Given the description of an element on the screen output the (x, y) to click on. 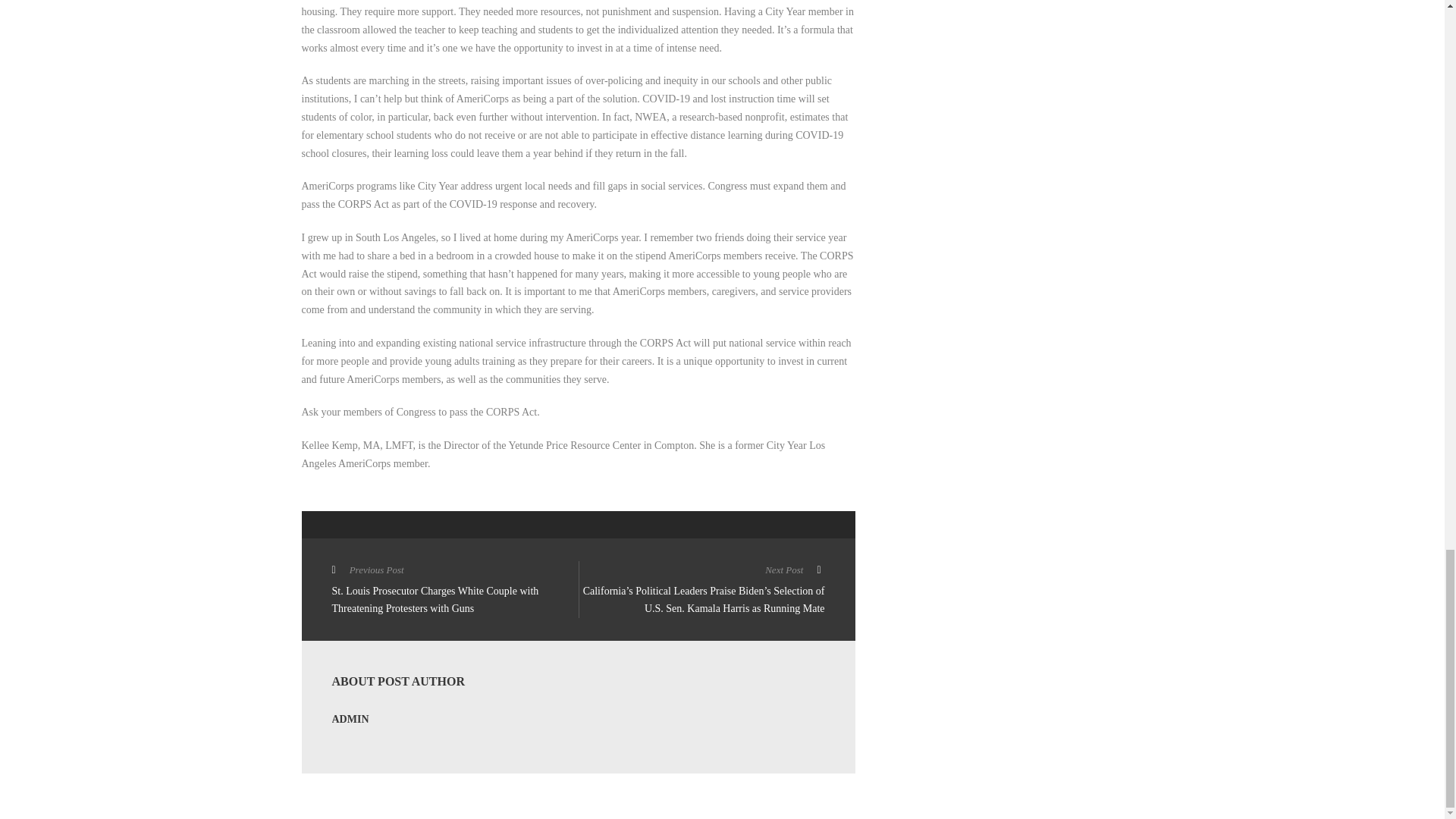
ADMIN (350, 718)
Posts by admin (350, 718)
